Given the description of an element on the screen output the (x, y) to click on. 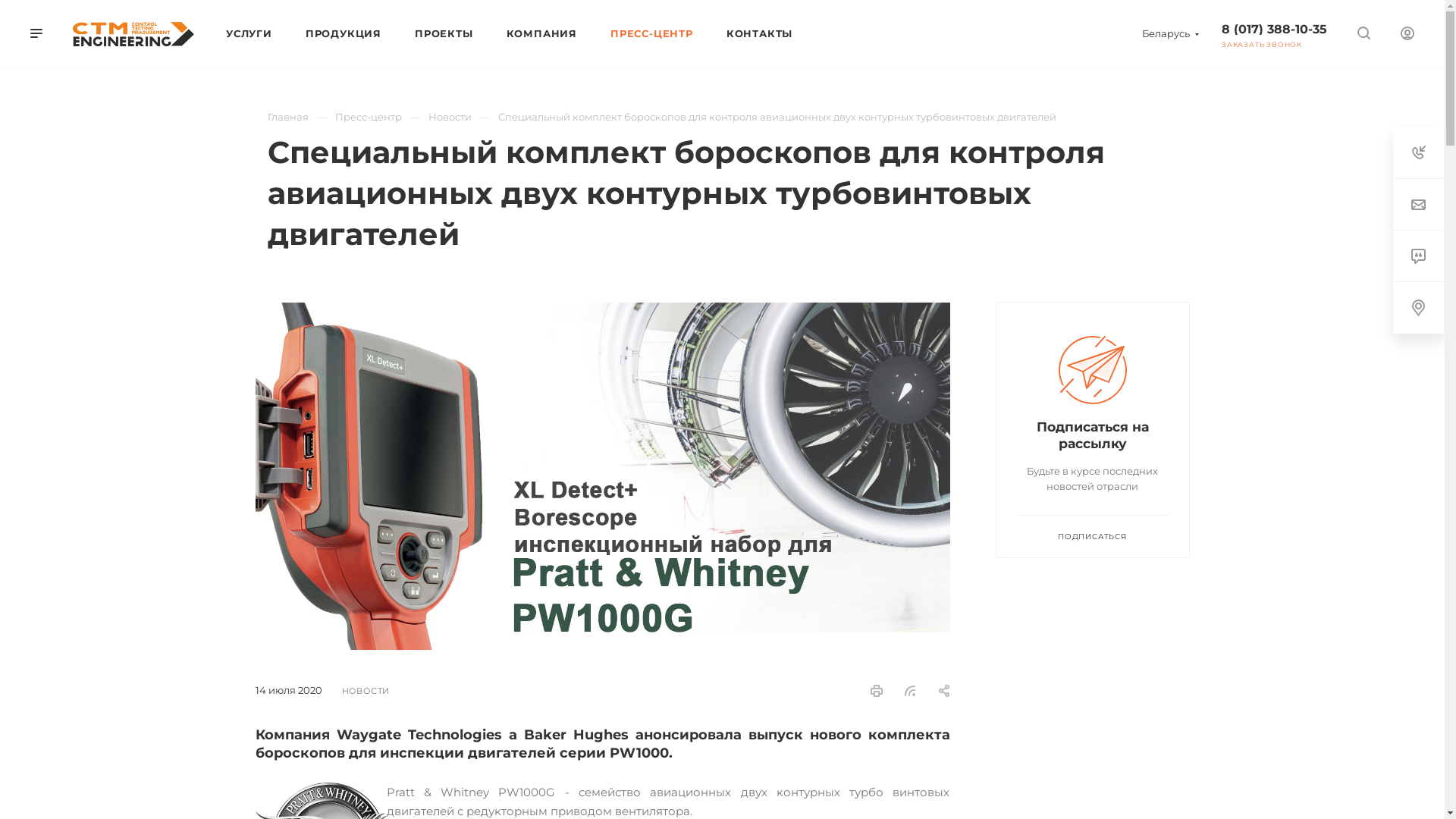
rss Element type: hover (909, 690)
8 (017) 388-10-35 Element type: text (1274, 28)
